Given the description of an element on the screen output the (x, y) to click on. 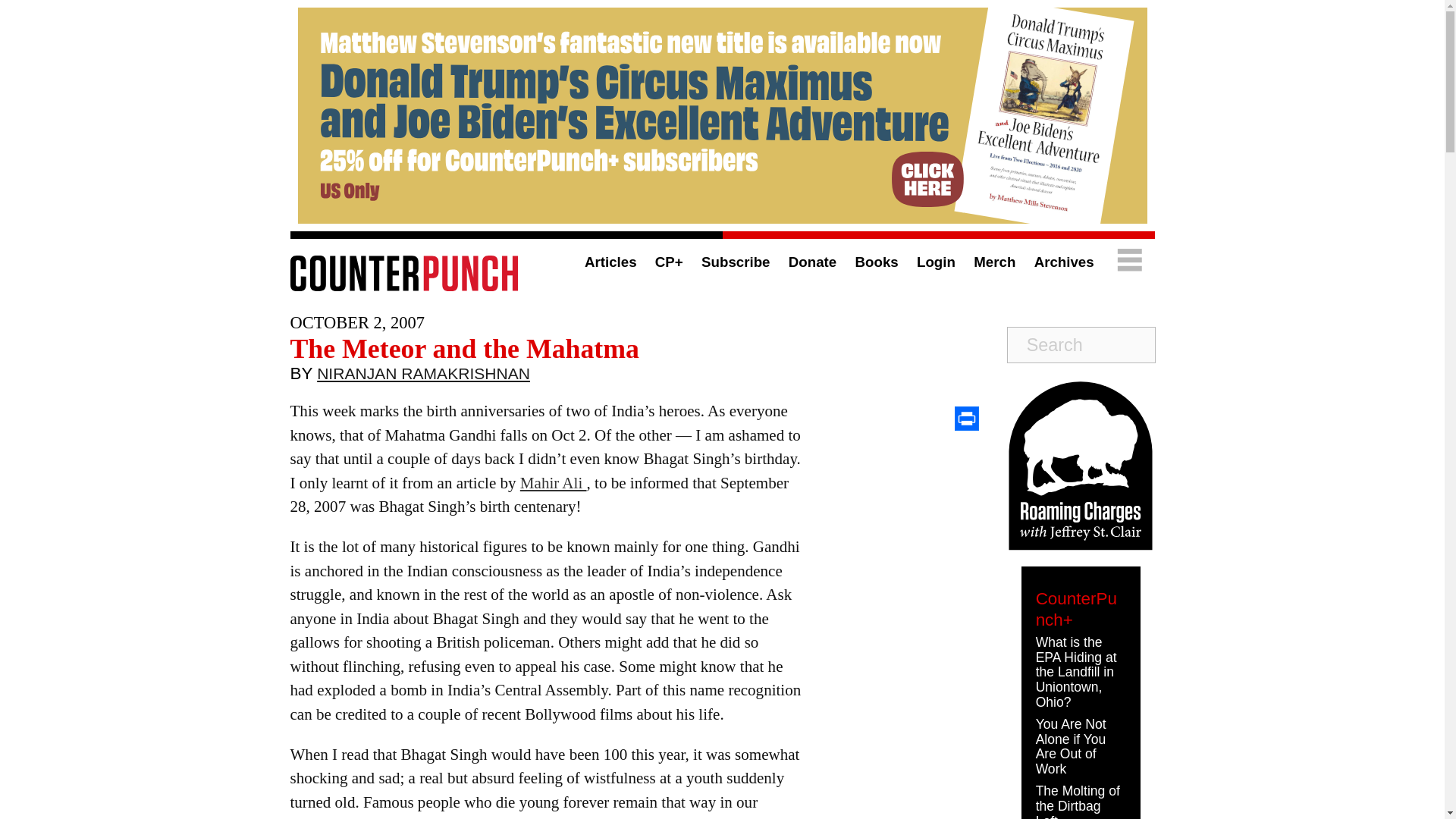
Archives (1063, 261)
Mahir Ali (552, 483)
Login (936, 261)
NIRANJAN RAMAKRISHNAN (423, 376)
Books (877, 261)
Articles (611, 261)
The Meteor and the Mahatma (464, 348)
2007-10-02 (356, 322)
Donate (812, 261)
Merch (994, 261)
Print This Post (966, 418)
Subscribe (735, 261)
